Given the description of an element on the screen output the (x, y) to click on. 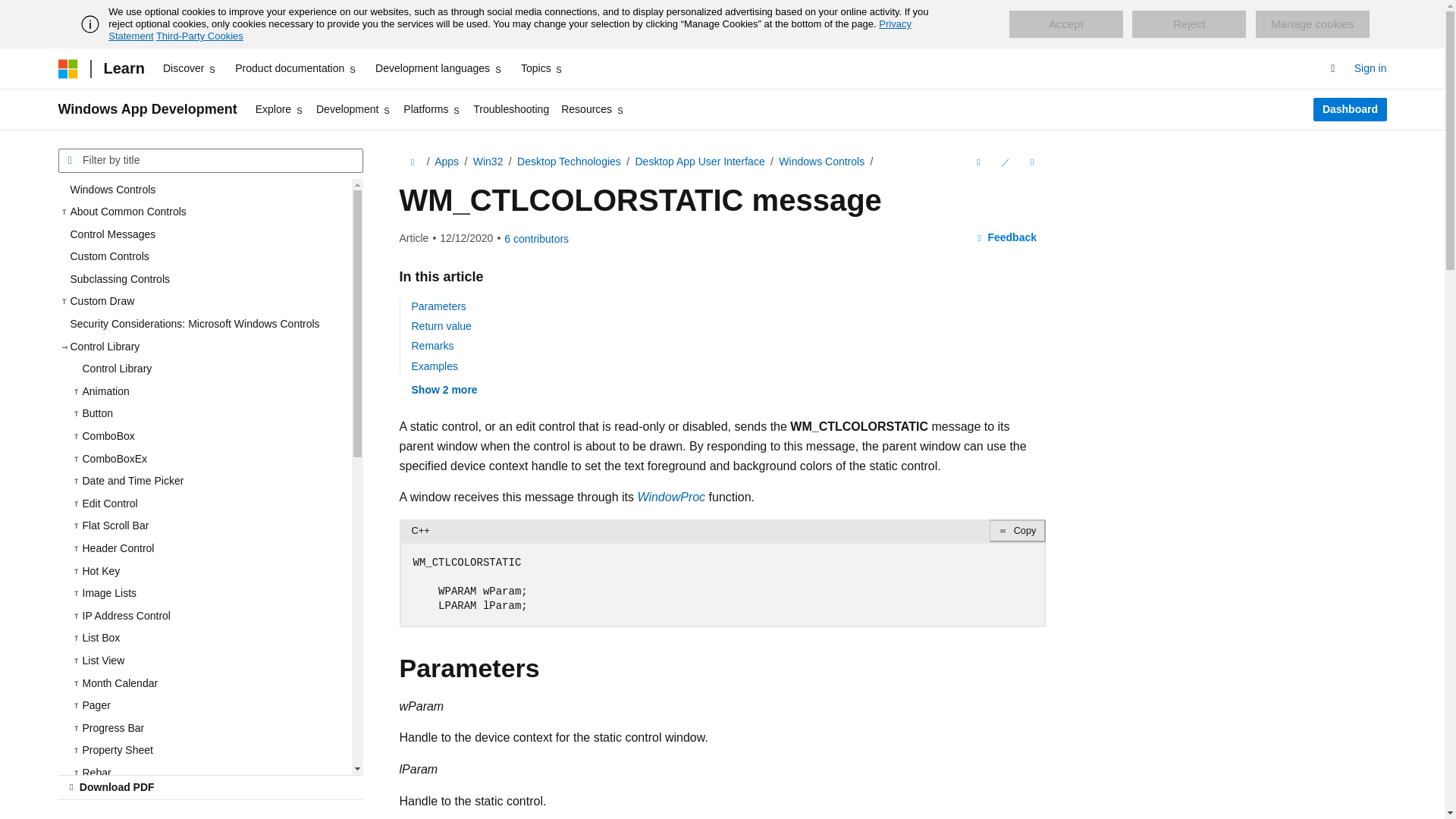
Skip to main content (11, 11)
Product documentation (295, 68)
Explore (279, 109)
Development (353, 109)
View all contributors (536, 238)
Discover (189, 68)
Manage cookies (1312, 23)
Sign in (1370, 68)
Learn (123, 68)
Edit This Document (1004, 161)
Windows App Development (146, 109)
Reject (1189, 23)
Third-Party Cookies (199, 35)
Development languages (438, 68)
Platforms (432, 109)
